Given the description of an element on the screen output the (x, y) to click on. 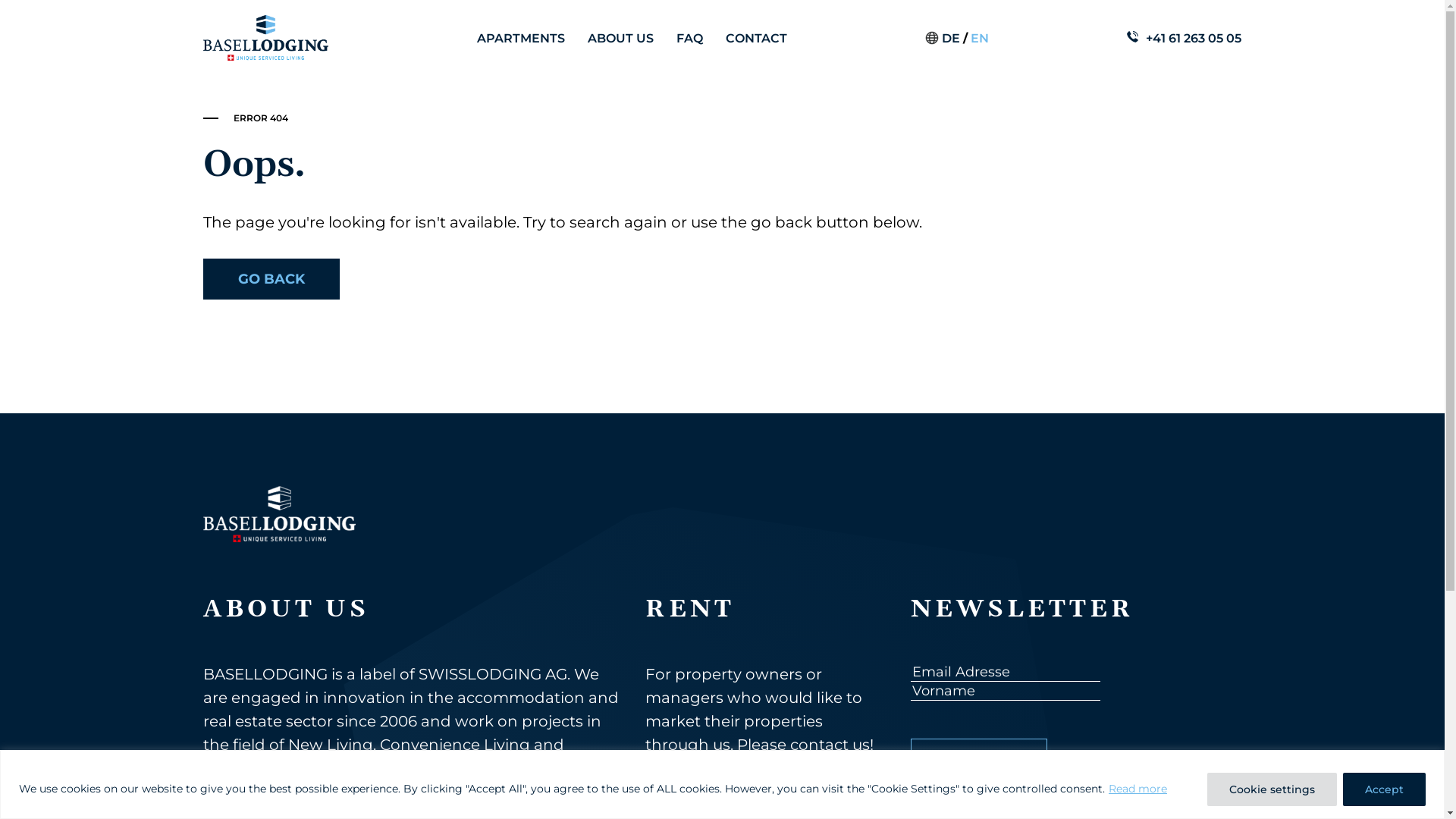
DE Element type: text (950, 37)
ABOUT US Element type: text (620, 37)
APARTMENTS Element type: text (520, 37)
CONTACT Element type: text (756, 37)
Subscribe Element type: text (978, 759)
EN Element type: text (979, 37)
Accept Element type: text (1384, 788)
Read more Element type: text (1137, 788)
FAQ Element type: text (689, 37)
GO BACK Element type: text (271, 278)
swisslodging.ch Element type: text (266, 791)
+41 61 263 05 05 Element type: text (1193, 37)
Cookie settings Element type: text (1271, 788)
